Given the description of an element on the screen output the (x, y) to click on. 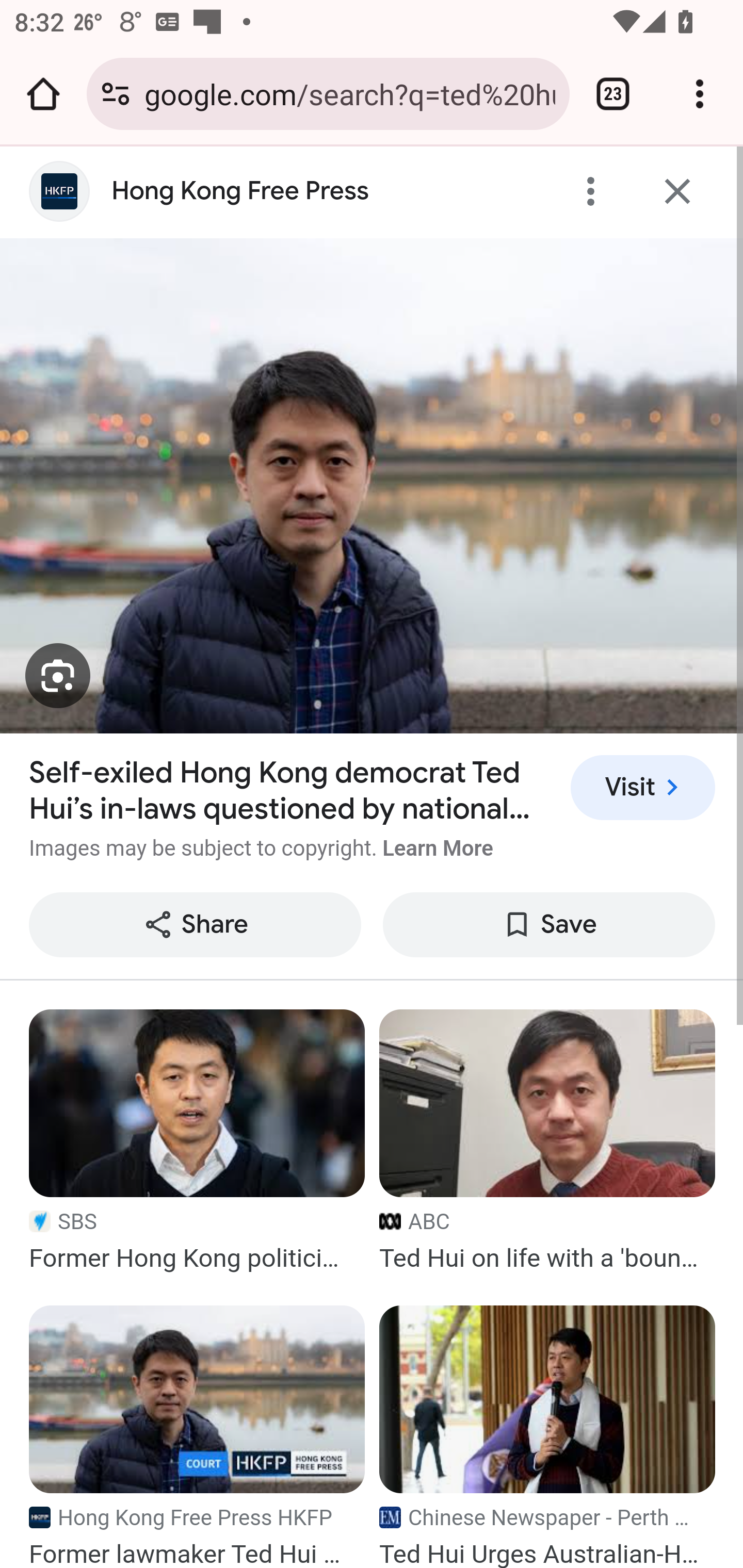
Open the home page (43, 93)
Connection is secure (115, 93)
Switch or close tabs (612, 93)
Customize and control Google Chrome (699, 93)
